Given the description of an element on the screen output the (x, y) to click on. 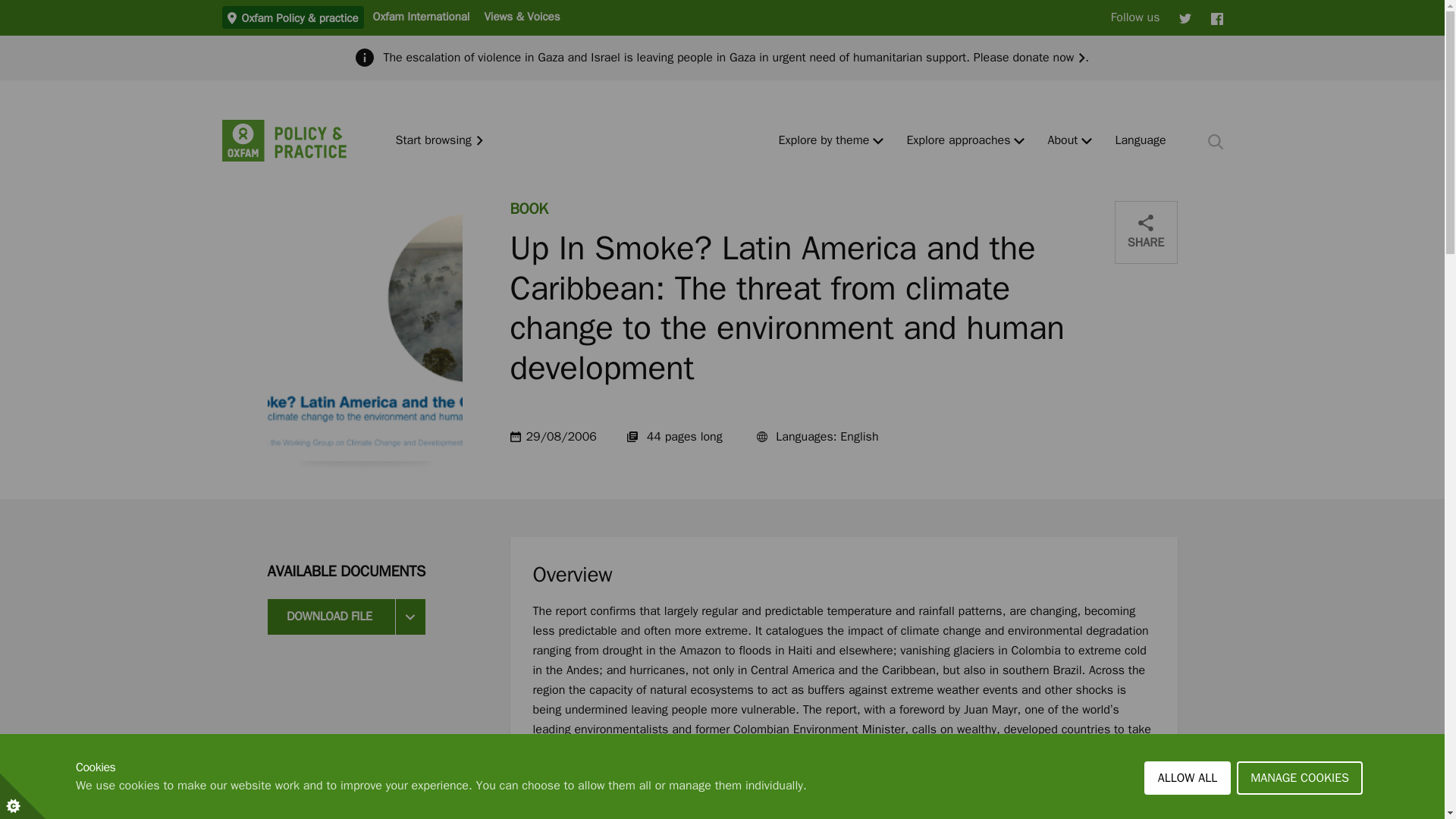
Twitter (1184, 17)
Menu toggle (1019, 141)
English (1140, 140)
Menu toggle (877, 141)
Explore by theme (823, 140)
MANAGE COOKIES (1299, 811)
donate now (1047, 57)
About (1061, 140)
Menu toggle (1086, 141)
Oxfam International (420, 16)
Start browsing (439, 140)
Search (1215, 140)
Explore approaches (957, 140)
Facebook (1216, 17)
Skip to content (11, 5)
